Given the description of an element on the screen output the (x, y) to click on. 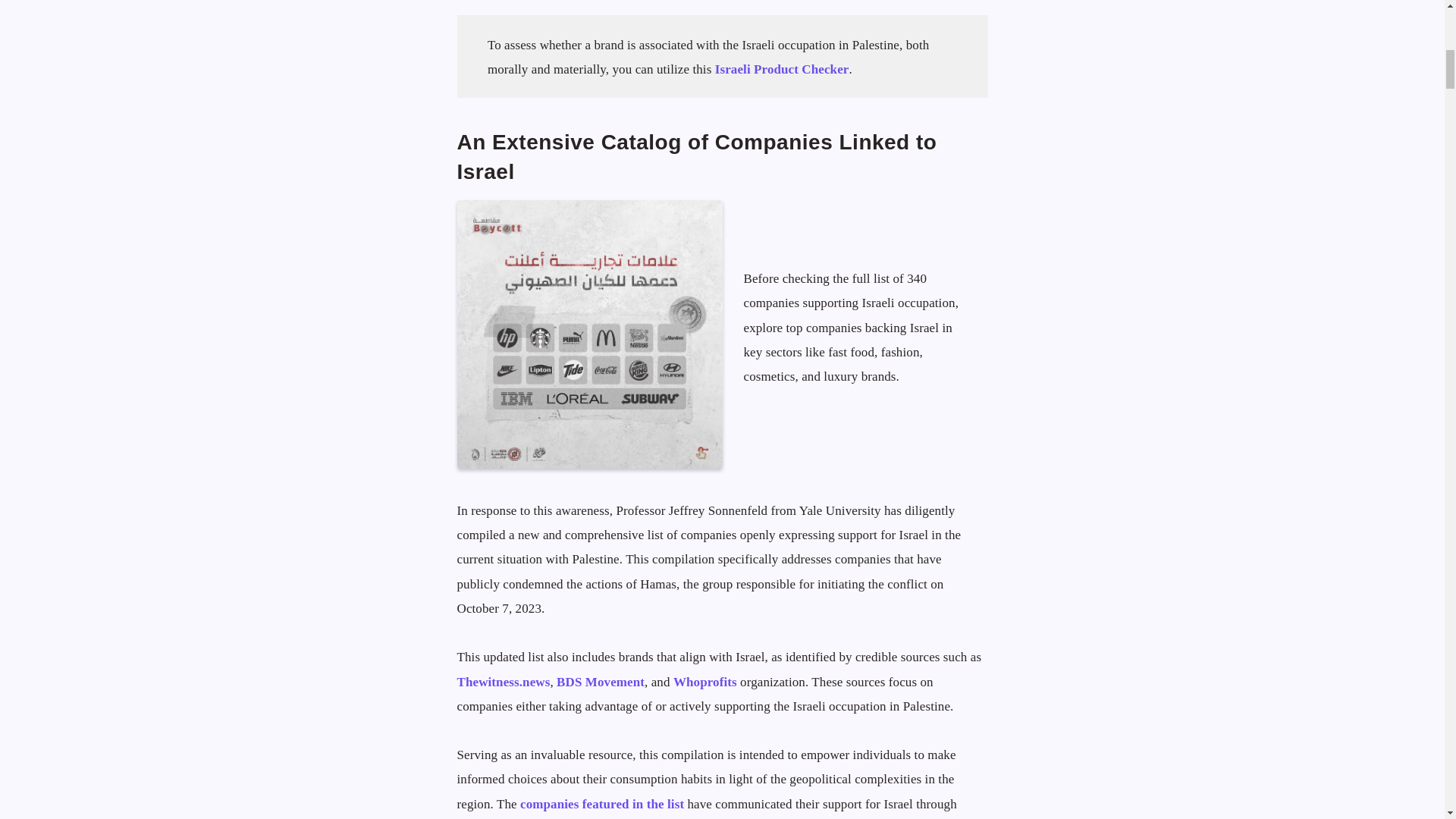
Israeli Product Checker (781, 69)
Thewitness.news (503, 681)
BDS Movement (600, 681)
Whoprofits (704, 681)
companies featured in the list (601, 803)
